Given the description of an element on the screen output the (x, y) to click on. 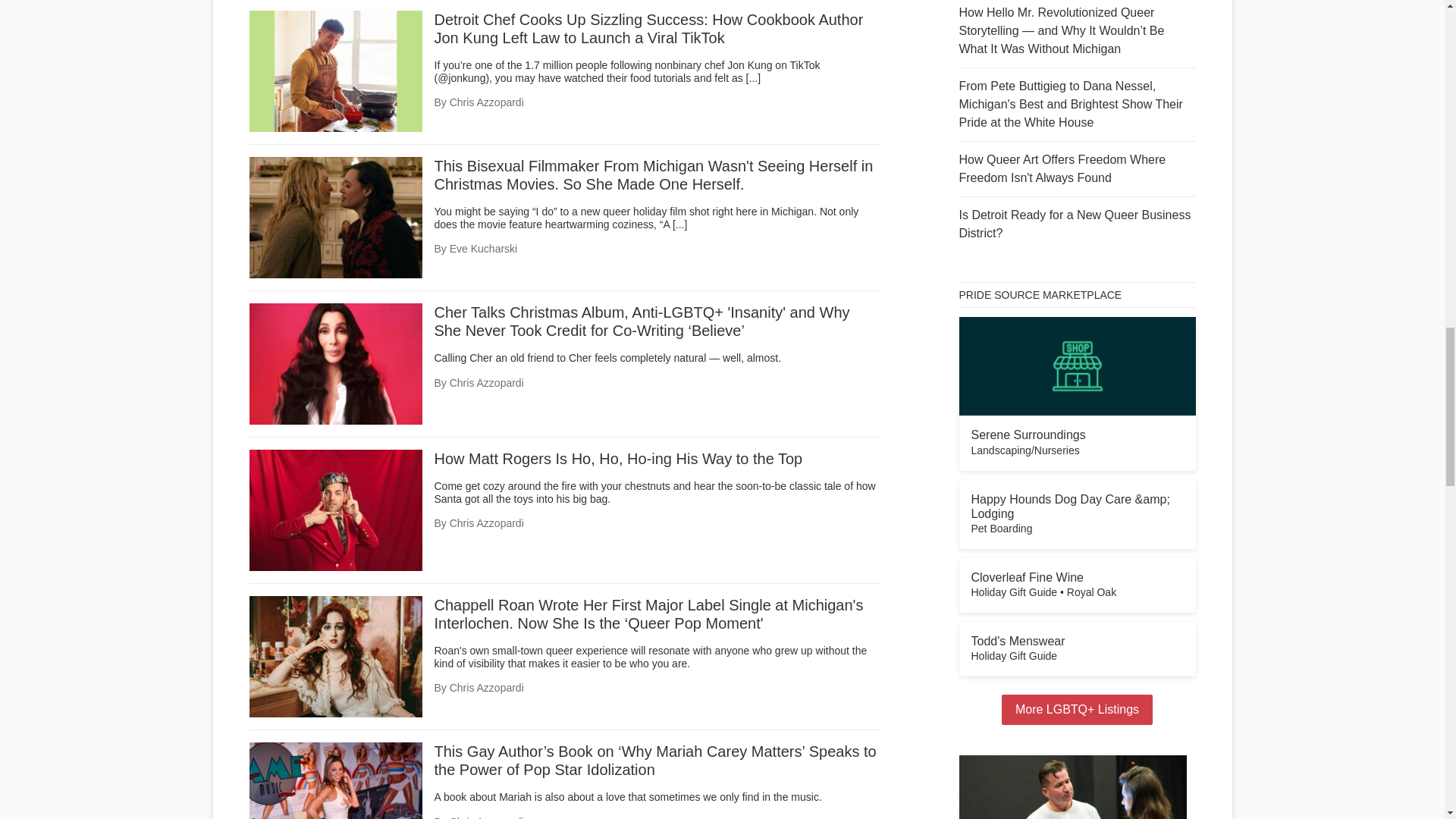
Read More (752, 78)
Read More (679, 224)
